Given the description of an element on the screen output the (x, y) to click on. 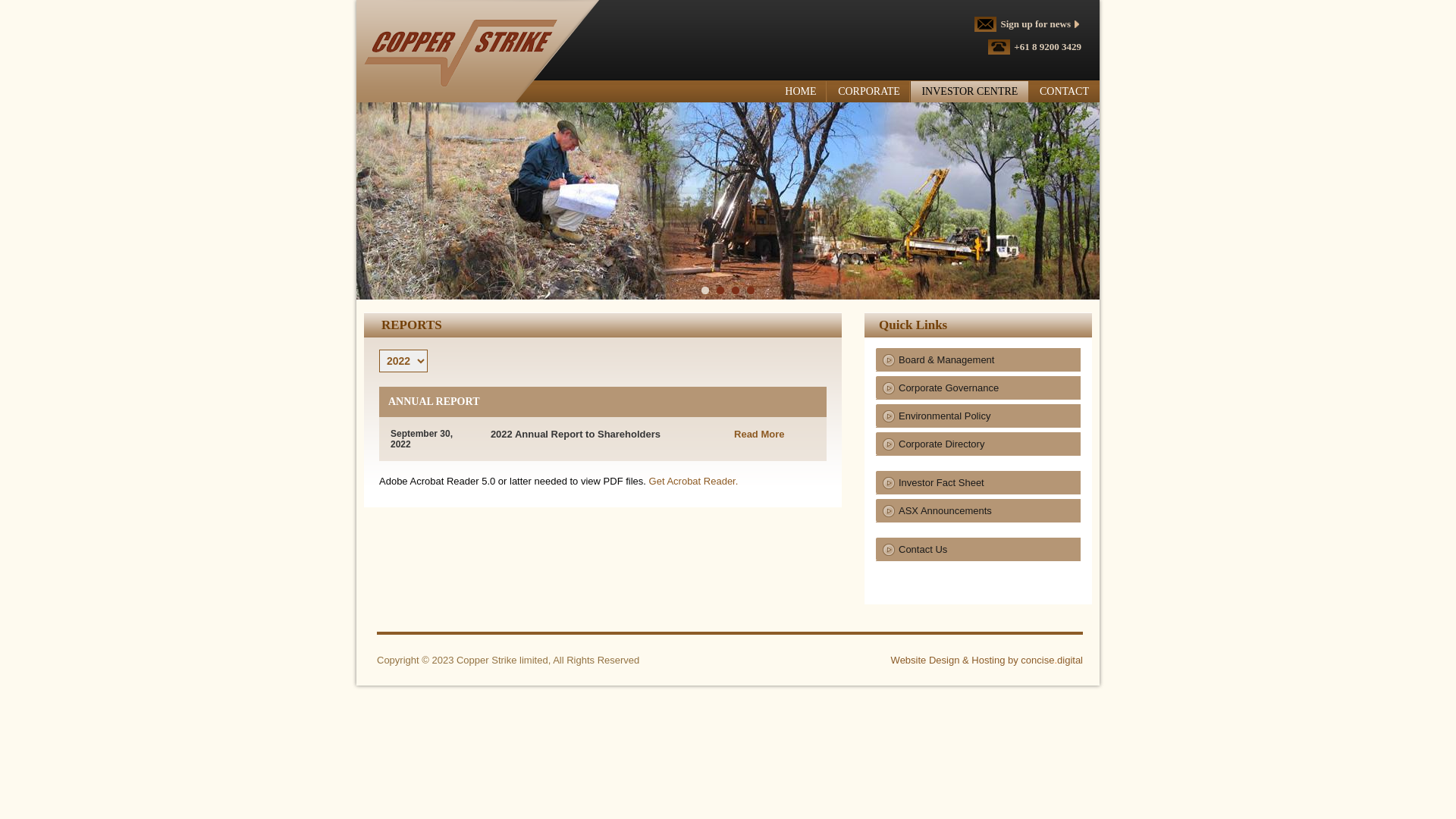
INVESTOR CENTRE Element type: text (969, 91)
Corporate Governance Element type: text (977, 387)
Sign up for news Element type: text (1036, 23)
Copper Strike Element type: hover (457, 49)
ASX Announcements Element type: text (977, 510)
Corporate Directory Element type: text (977, 443)
Get Acrobat Reader. Element type: text (693, 480)
4 Element type: text (750, 290)
Contact Us Element type: text (977, 549)
Read More Element type: text (759, 433)
CORPORATE Element type: text (868, 91)
+61 8 9200 3429 Element type: text (1043, 46)
1 Element type: text (704, 290)
Environmental Policy Element type: text (977, 415)
3 Element type: text (735, 290)
HOME Element type: text (800, 91)
Board & Management Element type: text (977, 359)
2 Element type: text (720, 290)
Investor Fact Sheet Element type: text (977, 482)
CONTACT Element type: text (1064, 91)
Website Design & Hosting by concise.digital Element type: text (986, 659)
